Given the description of an element on the screen output the (x, y) to click on. 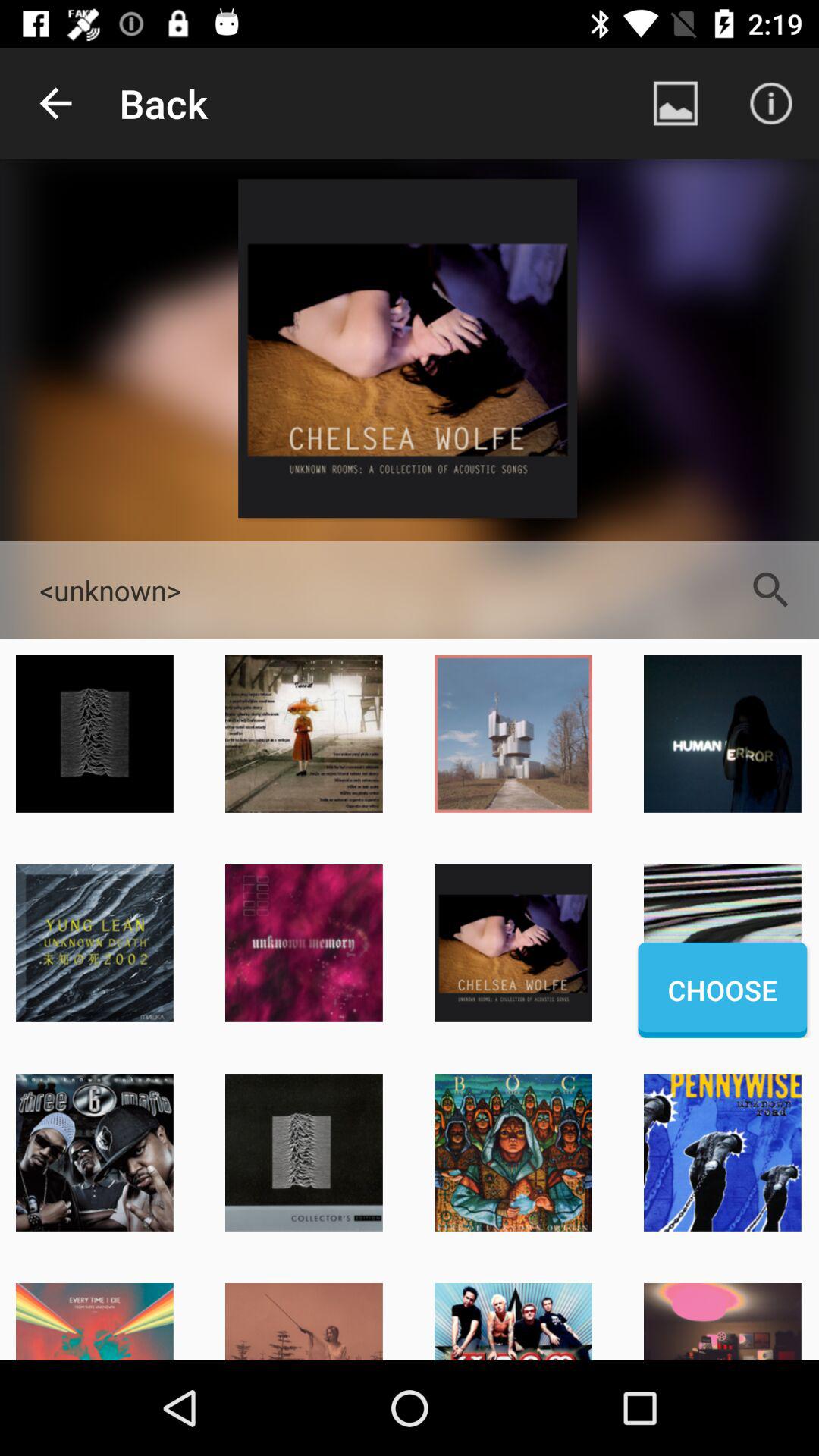
press choose icon (722, 989)
